Given the description of an element on the screen output the (x, y) to click on. 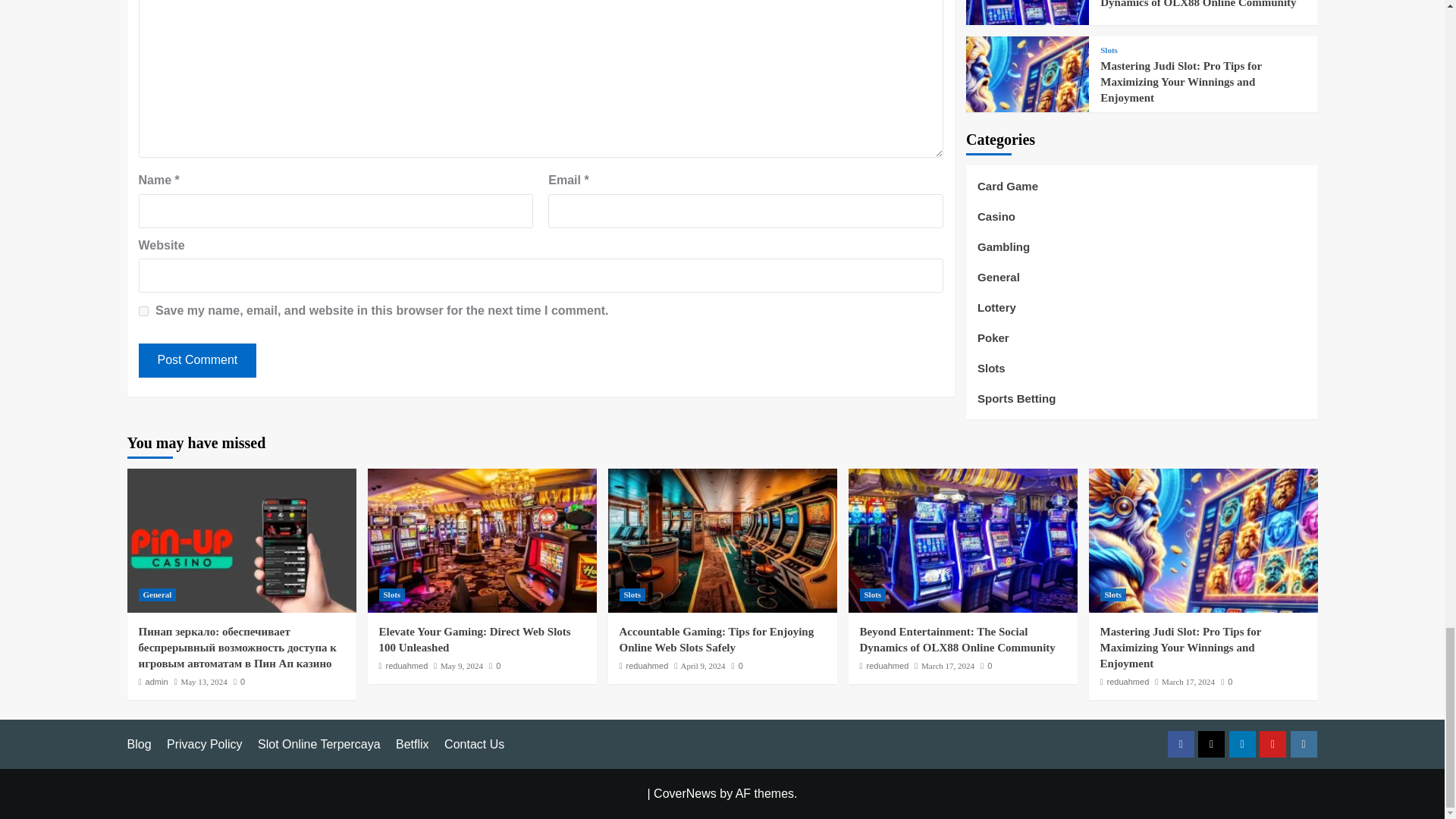
yes (143, 311)
Post Comment (197, 360)
